Given the description of an element on the screen output the (x, y) to click on. 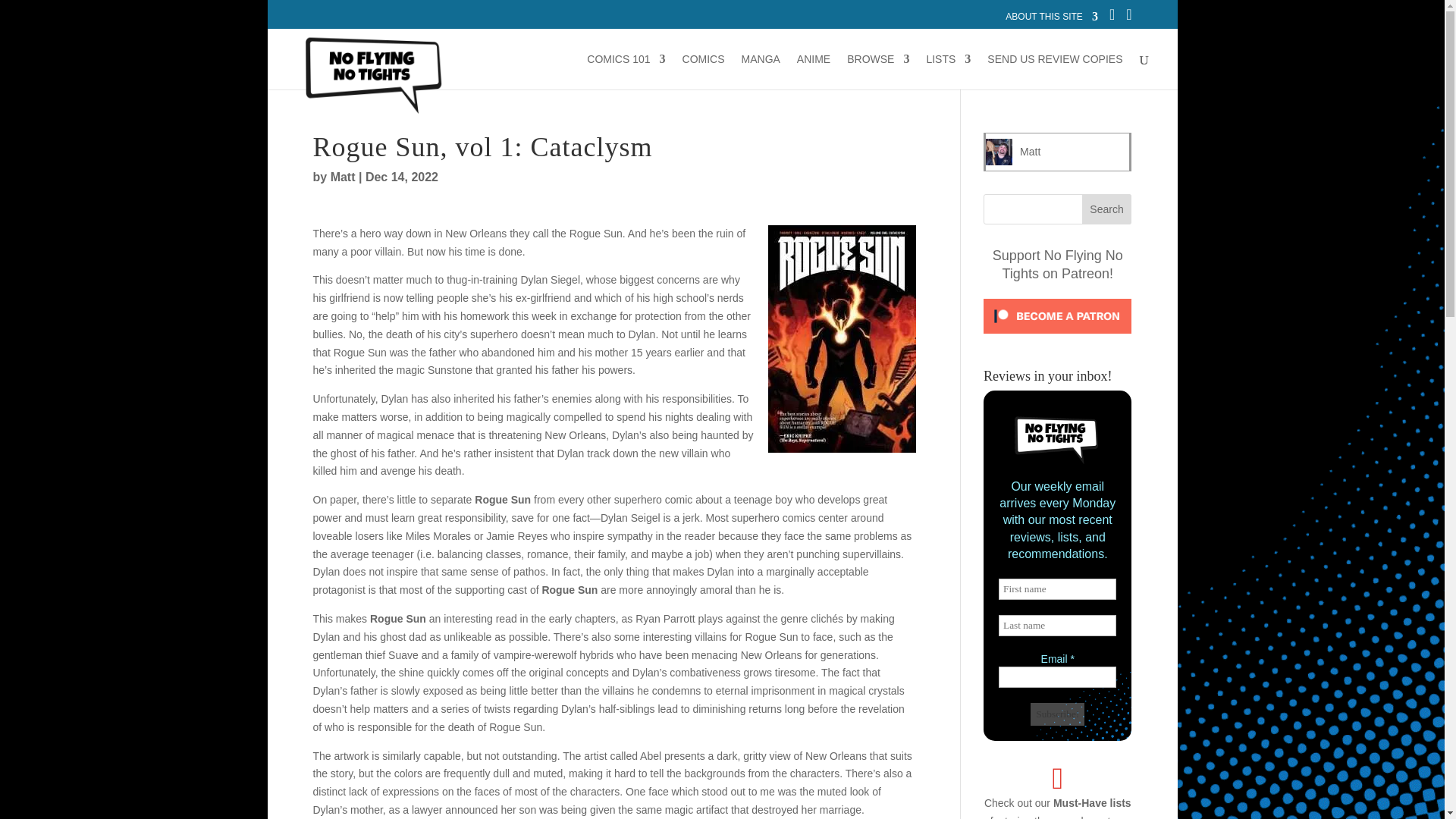
BROWSE (877, 71)
ABOUT THIS SITE (1051, 19)
Last name (1057, 625)
Subscribe! (1057, 713)
Matt (1030, 151)
COMICS (703, 71)
MANGA (760, 71)
LISTS (948, 71)
Posts by Matt (342, 176)
First name (1057, 588)
SEND US REVIEW COPIES (1054, 71)
ANIME (812, 71)
Search (1106, 209)
Email (1057, 676)
COMICS 101 (625, 71)
